Given the description of an element on the screen output the (x, y) to click on. 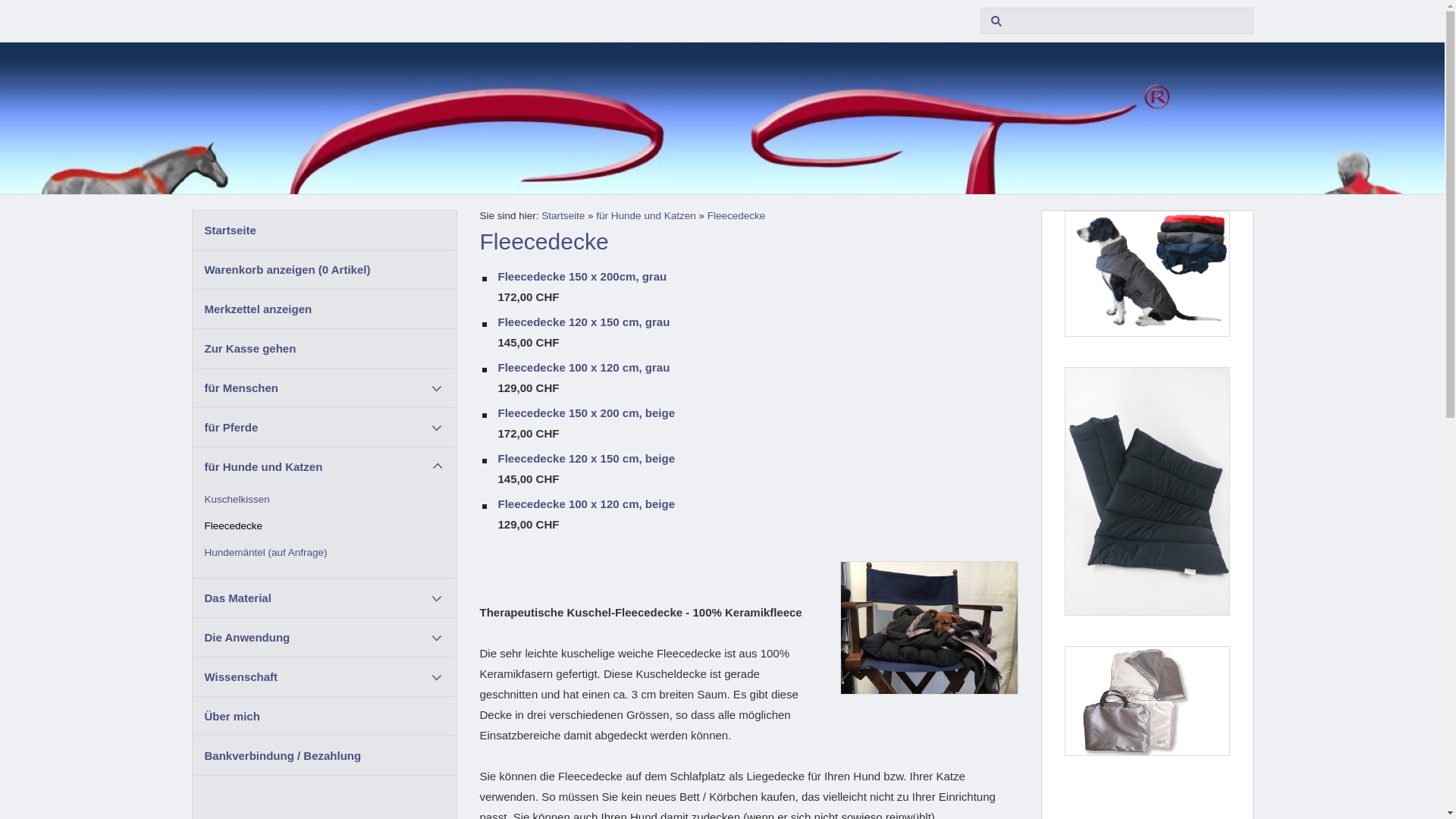
Fleecedecke 100 x 120 cm, grau Element type: text (757, 366)
Fleecedecke 150 x 200 cm, beige Element type: text (757, 412)
Startseite Element type: text (562, 215)
Das Material Element type: text (324, 597)
Fleecedecke Element type: text (736, 215)
Startseite Element type: text (324, 229)
Zur Kasse gehen Element type: text (324, 348)
Fleecedecke 120 x 150 cm, beige Element type: text (757, 457)
Wissenschaft Element type: text (324, 676)
Fleecedecke 100 x 120 cm, beige Element type: text (757, 503)
Fleecedecke 120 x 150 cm, grau Element type: text (757, 321)
Fleecedecke Element type: text (324, 525)
Kuschelkissen Element type: text (324, 499)
Fleecedecke 150 x 200cm, grau Element type: text (757, 275)
Merkzettel anzeigen Element type: text (324, 308)
Die Anwendung Element type: text (324, 637)
Warenkorb anzeigen (0 Artikel) Element type: text (324, 269)
Bankverbindung / Bezahlung Element type: text (324, 755)
